Given the description of an element on the screen output the (x, y) to click on. 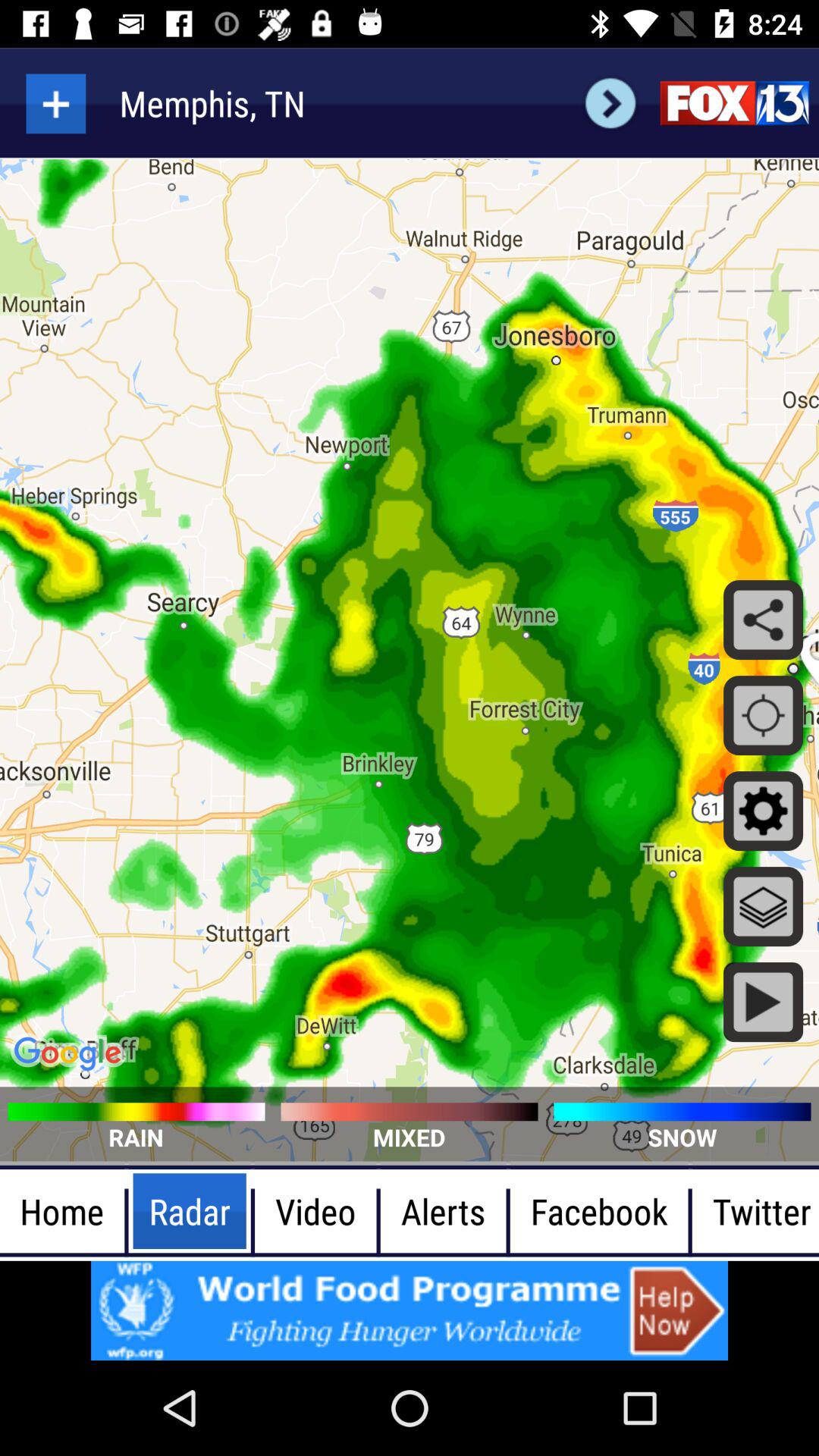
to go screenshot (55, 103)
